Given the description of an element on the screen output the (x, y) to click on. 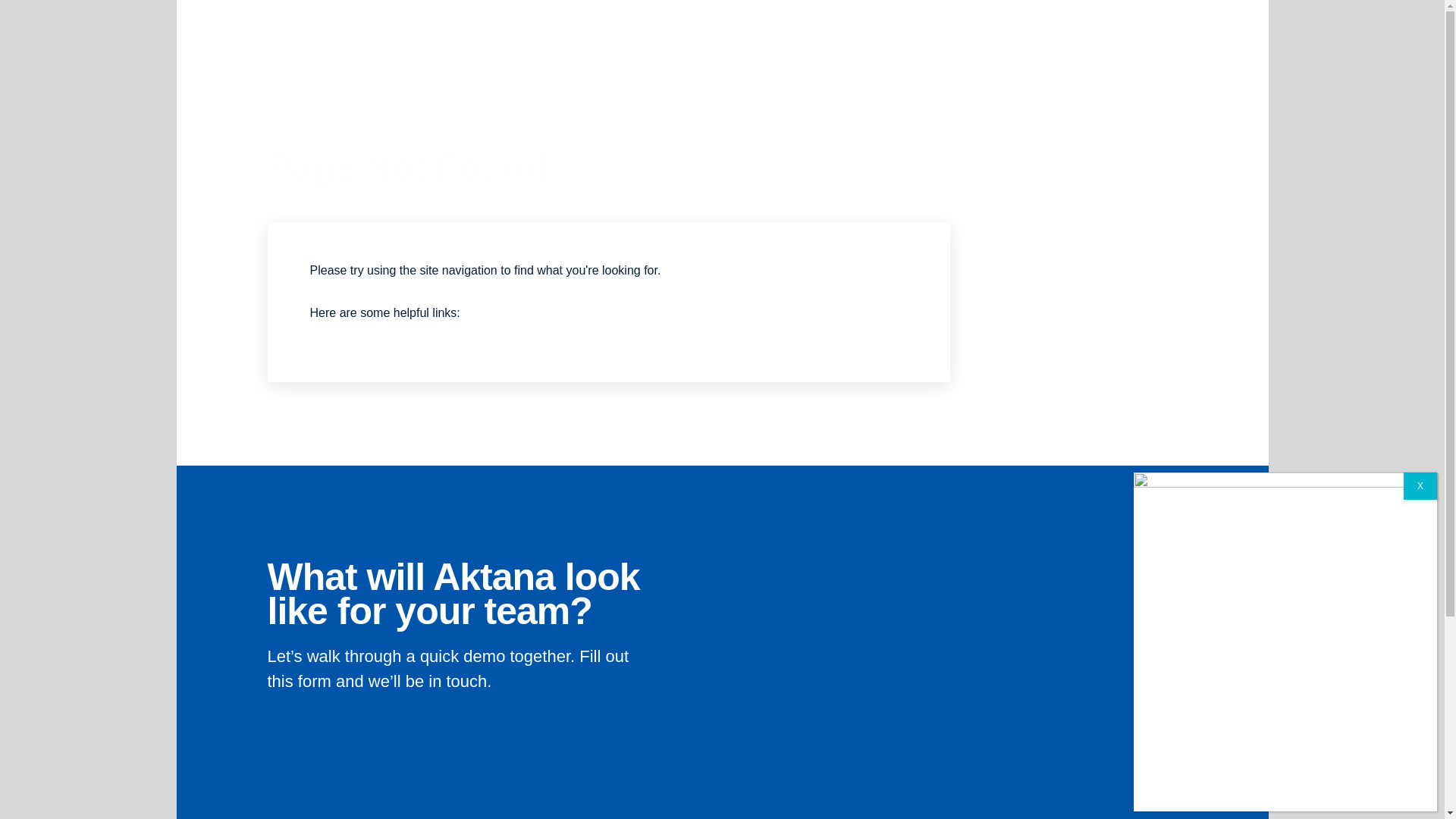
Solutions (675, 70)
Services (751, 70)
Contact (987, 70)
REQUEST A DEMO (1099, 70)
Company (827, 70)
Resources (909, 70)
Products (600, 70)
